Given the description of an element on the screen output the (x, y) to click on. 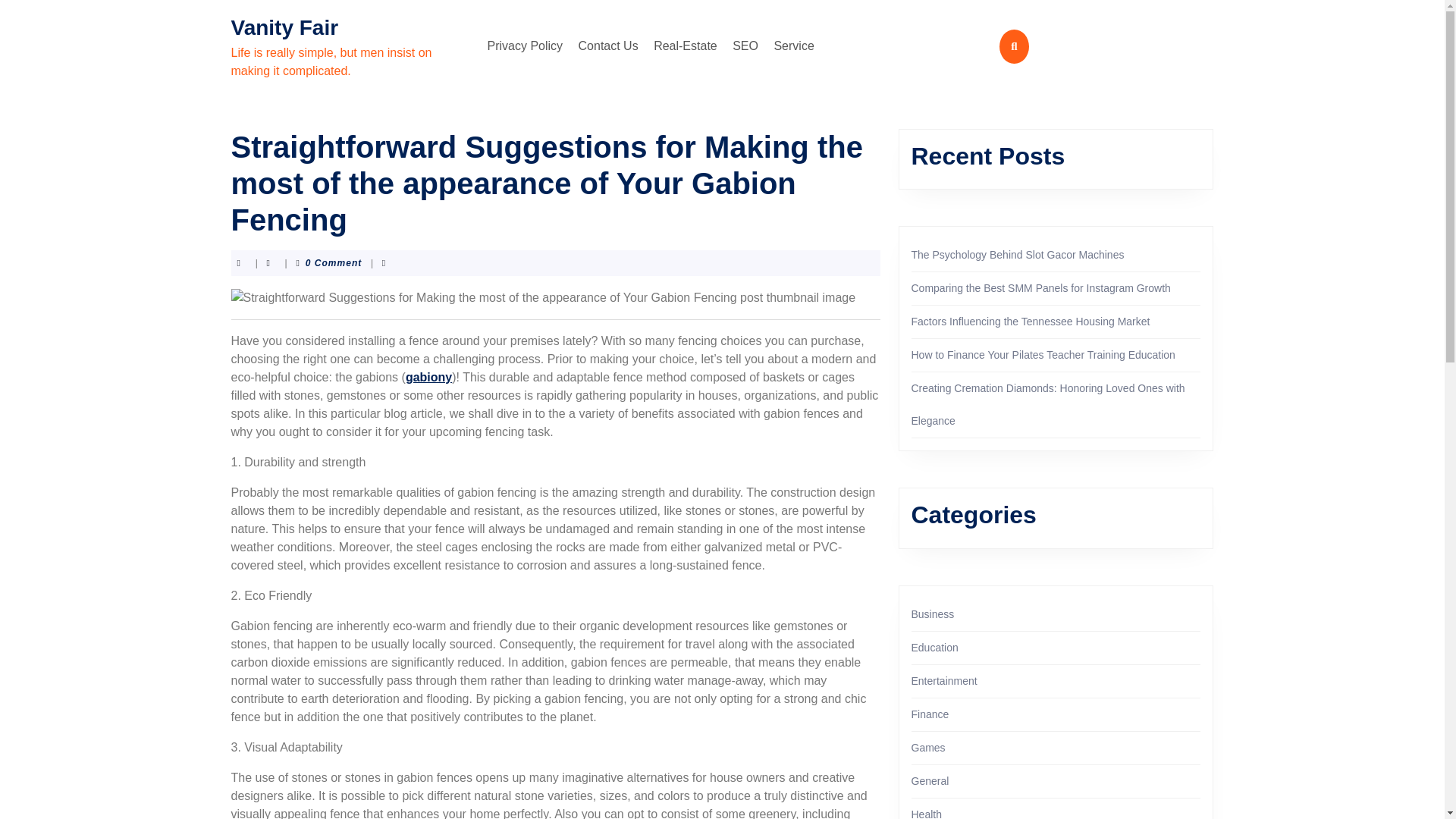
Business (933, 613)
Education (934, 647)
How to Finance Your Pilates Teacher Training Education (1042, 354)
Health (926, 813)
gabiony (428, 377)
Vanity Fair (283, 27)
SEO (745, 46)
Entertainment (943, 680)
The Psychology Behind Slot Gacor Machines (1017, 254)
Privacy Policy (524, 46)
Finance (930, 714)
Contact Us (608, 46)
Games (927, 747)
Real-Estate (685, 46)
General (930, 780)
